Given the description of an element on the screen output the (x, y) to click on. 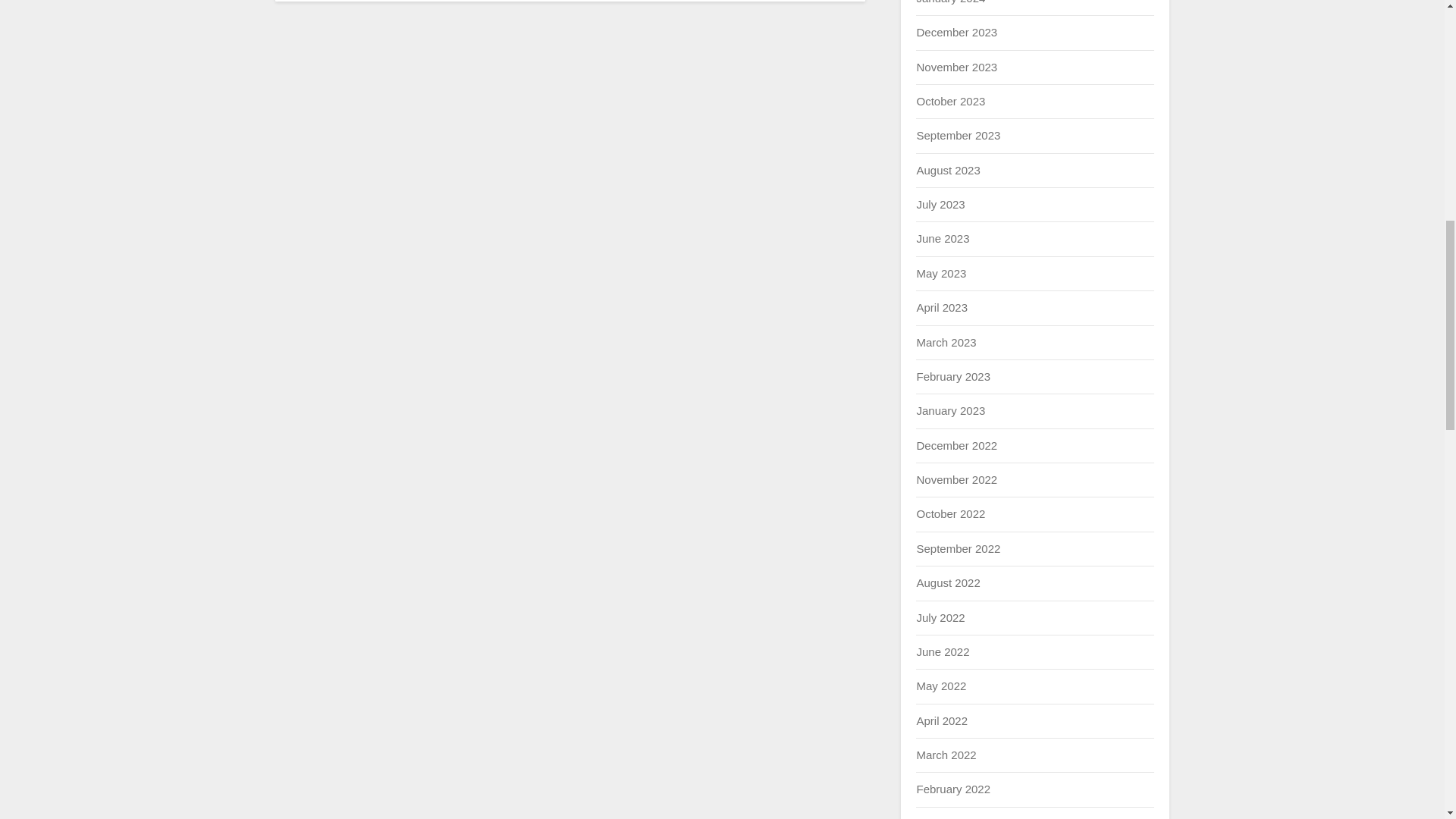
October 2022 (950, 513)
April 2022 (941, 720)
February 2023 (952, 376)
April 2023 (941, 307)
November 2022 (956, 479)
December 2022 (956, 445)
June 2022 (942, 651)
July 2023 (939, 204)
January 2024 (950, 2)
August 2023 (947, 169)
July 2022 (939, 617)
March 2023 (945, 341)
August 2022 (947, 582)
May 2023 (940, 273)
September 2023 (957, 134)
